Given the description of an element on the screen output the (x, y) to click on. 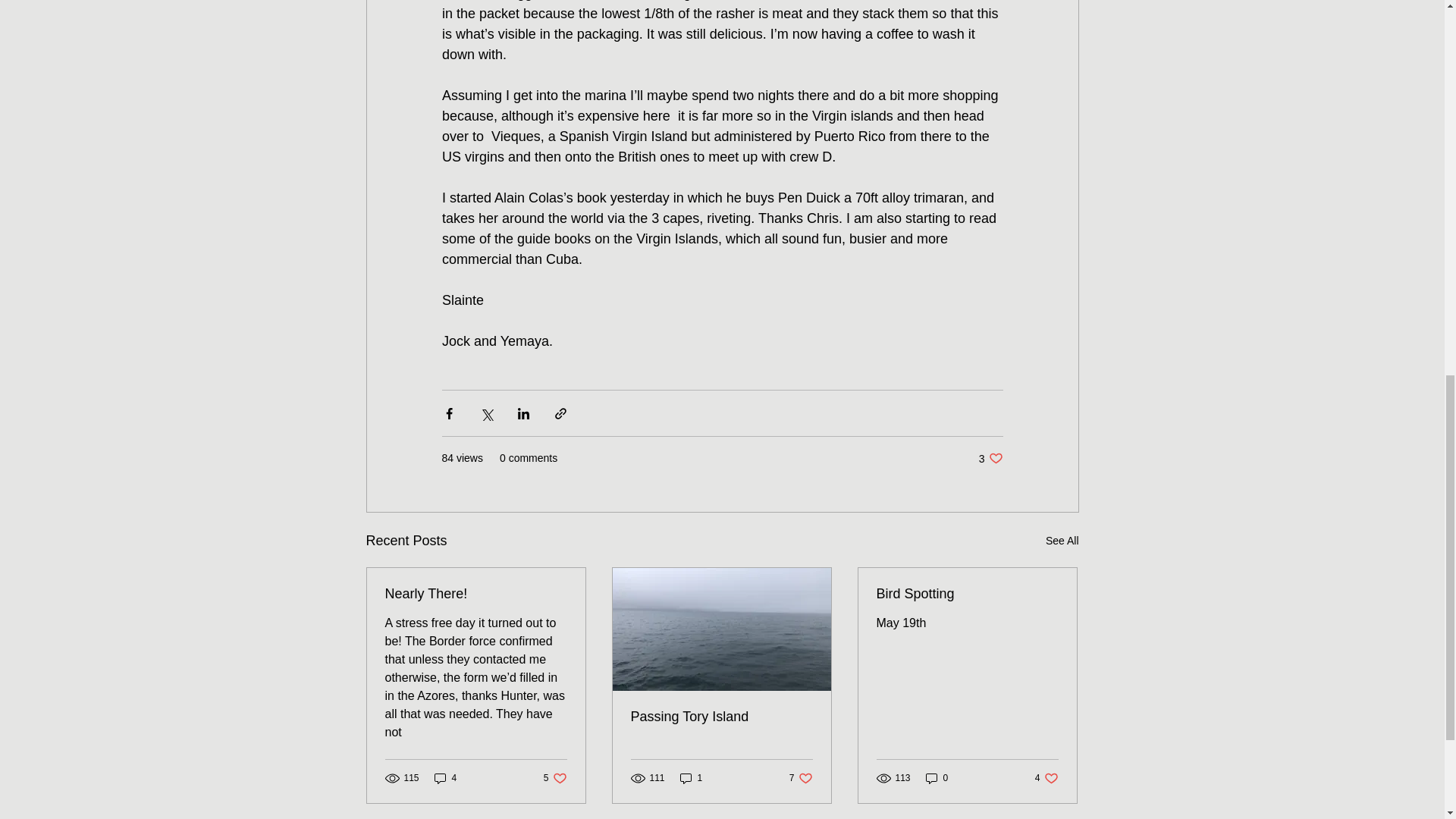
Nearly There! (476, 593)
Bird Spotting (1046, 778)
Passing Tory Island (800, 778)
See All (990, 458)
4 (555, 778)
0 (967, 593)
